Given the description of an element on the screen output the (x, y) to click on. 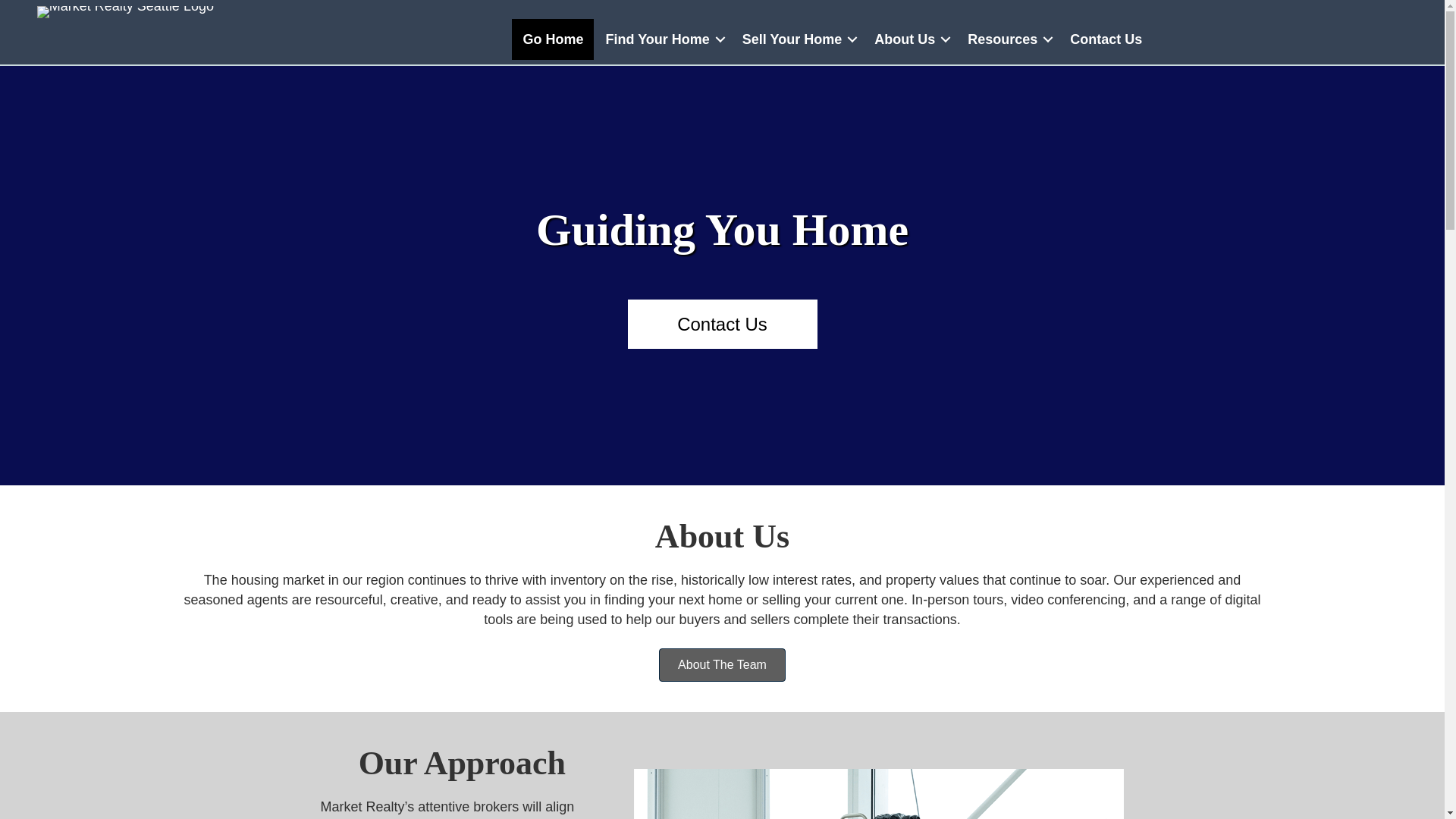
Find Your Home (662, 38)
Sell Your Home (797, 38)
Go Home (553, 38)
About Us (909, 38)
Contact Us (721, 323)
Market Realty White Logo (125, 11)
Contact Us (1106, 38)
Click Here (721, 323)
About The Team (722, 664)
Seattle Real Estate Viewscope (878, 794)
